Given the description of an element on the screen output the (x, y) to click on. 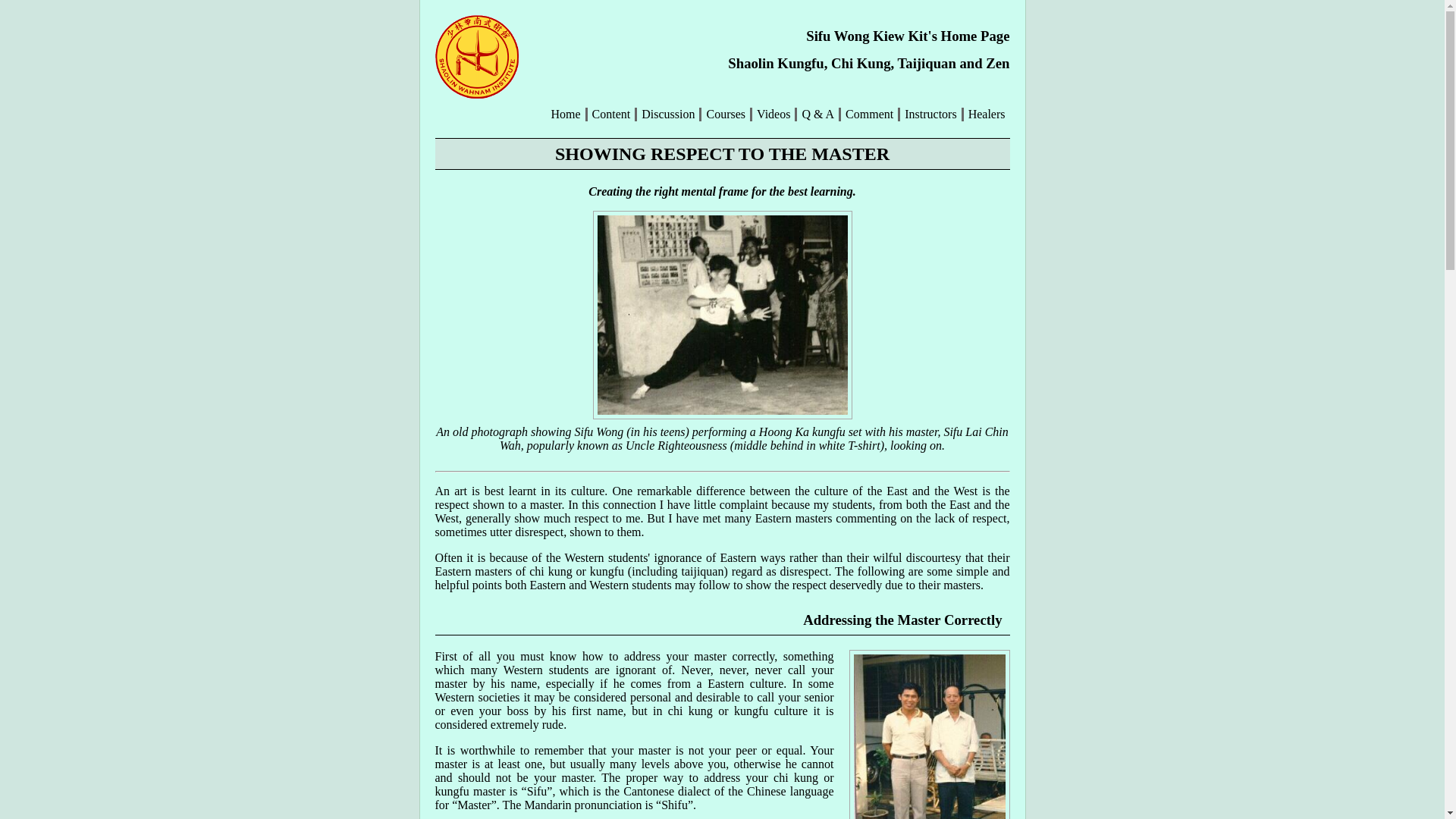
Home (564, 114)
